Given the description of an element on the screen output the (x, y) to click on. 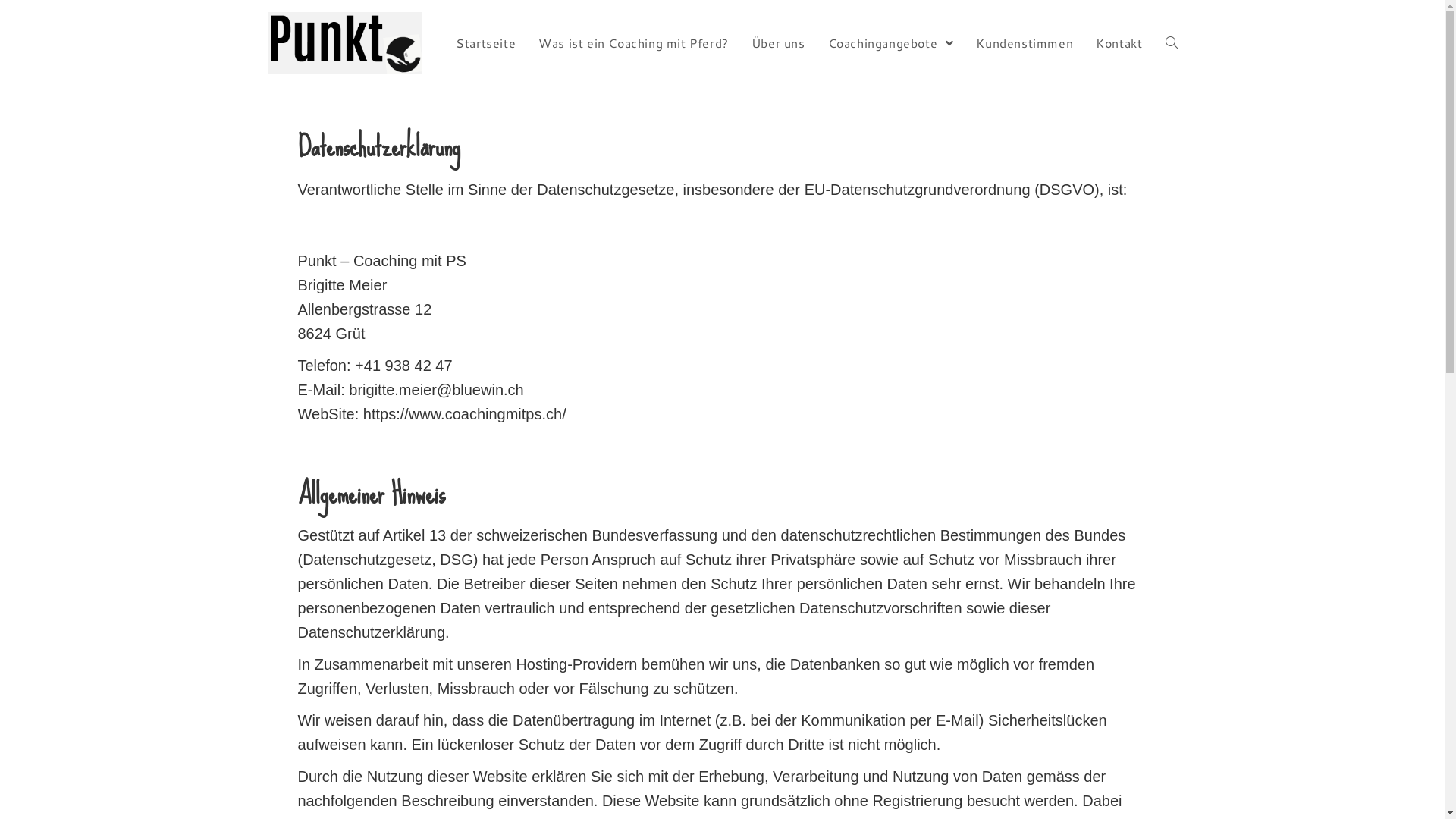
Startseite Element type: text (485, 42)
Coachingangebote Element type: text (890, 42)
Was ist ein Coaching mit Pferd? Element type: text (633, 42)
Kontakt Element type: text (1118, 42)
Kundenstimmen Element type: text (1024, 42)
